Given the description of an element on the screen output the (x, y) to click on. 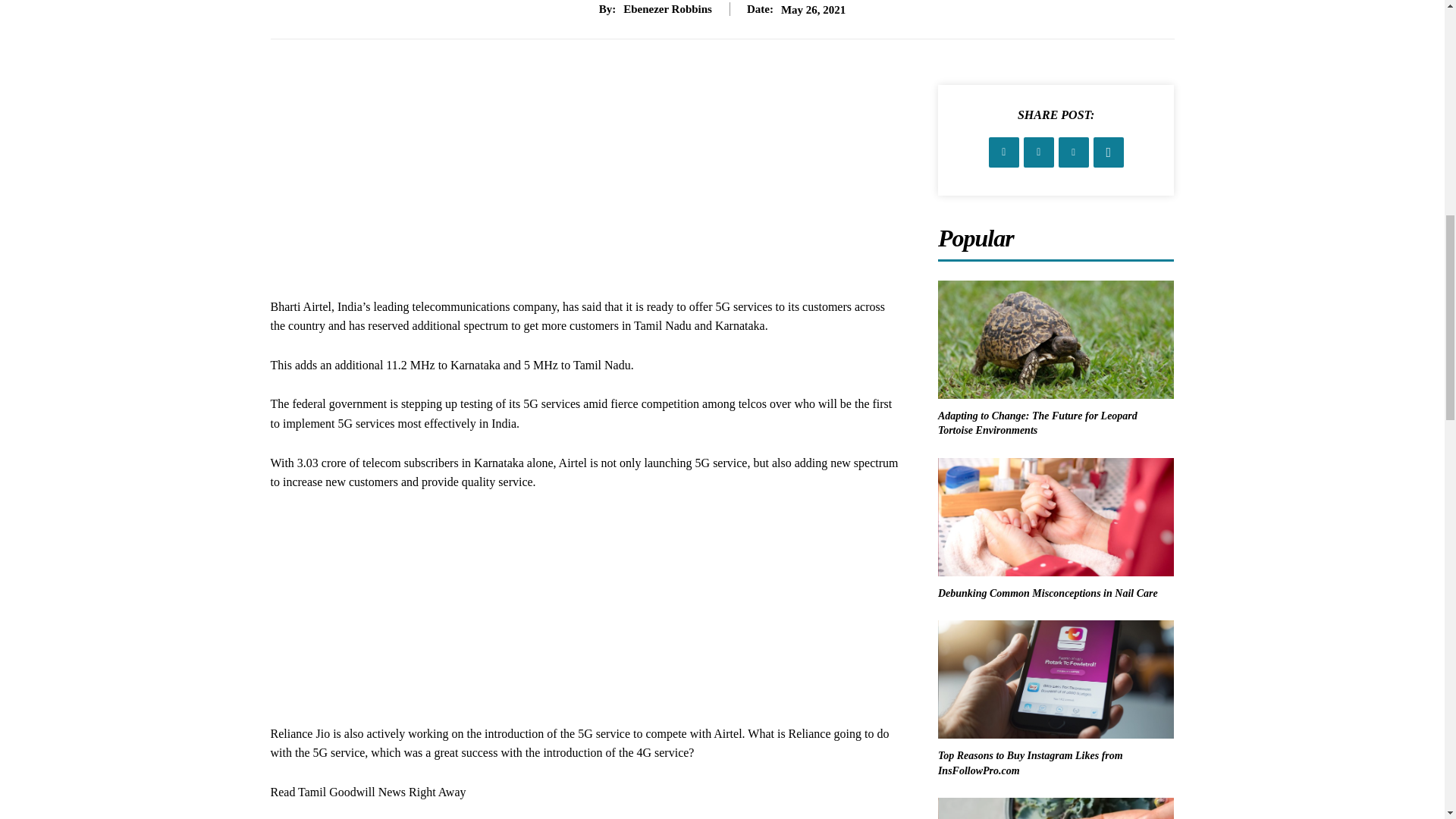
Pinterest (1073, 152)
Top Reasons to Buy Instagram Likes from InsFollowPro.com (1055, 678)
Debunking Common Misconceptions in Nail Care (1047, 593)
Twitter (1038, 152)
Advertisement (585, 617)
Advertisement (585, 191)
Top Reasons to Buy Instagram Likes from InsFollowPro.com (1029, 763)
Facebook (1003, 152)
Debunking Common Misconceptions in Nail Care (1055, 516)
WhatsApp (1108, 152)
